Given the description of an element on the screen output the (x, y) to click on. 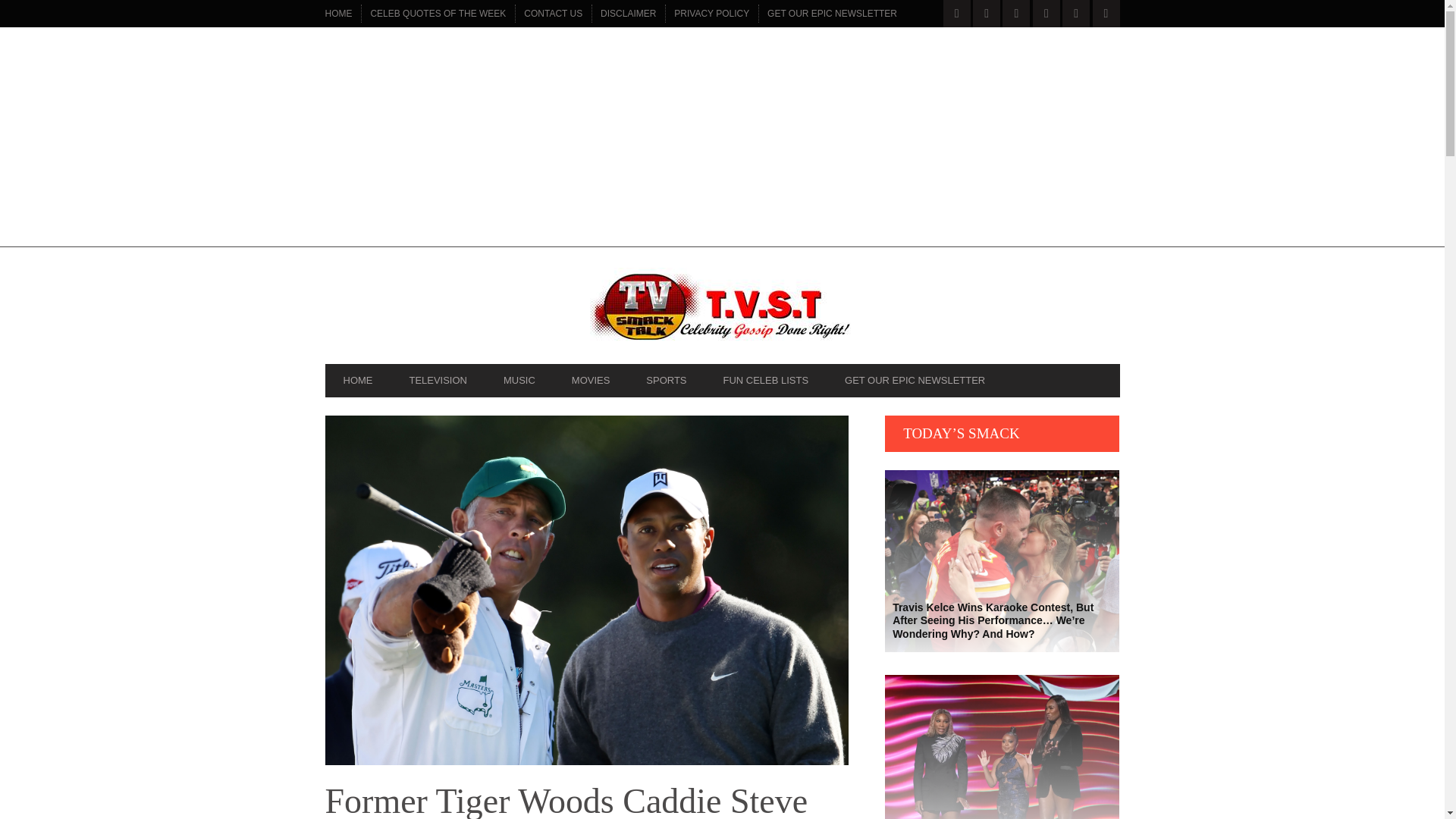
TELEVISION (437, 379)
T.V.S.T. (721, 308)
PRIVACY POLICY (711, 13)
DISCLAIMER (628, 13)
CONTACT US (553, 13)
HOME (357, 379)
HOME (338, 13)
GET OUR EPIC NEWSLETTER (831, 13)
CELEB QUOTES OF THE WEEK (438, 13)
